Given the description of an element on the screen output the (x, y) to click on. 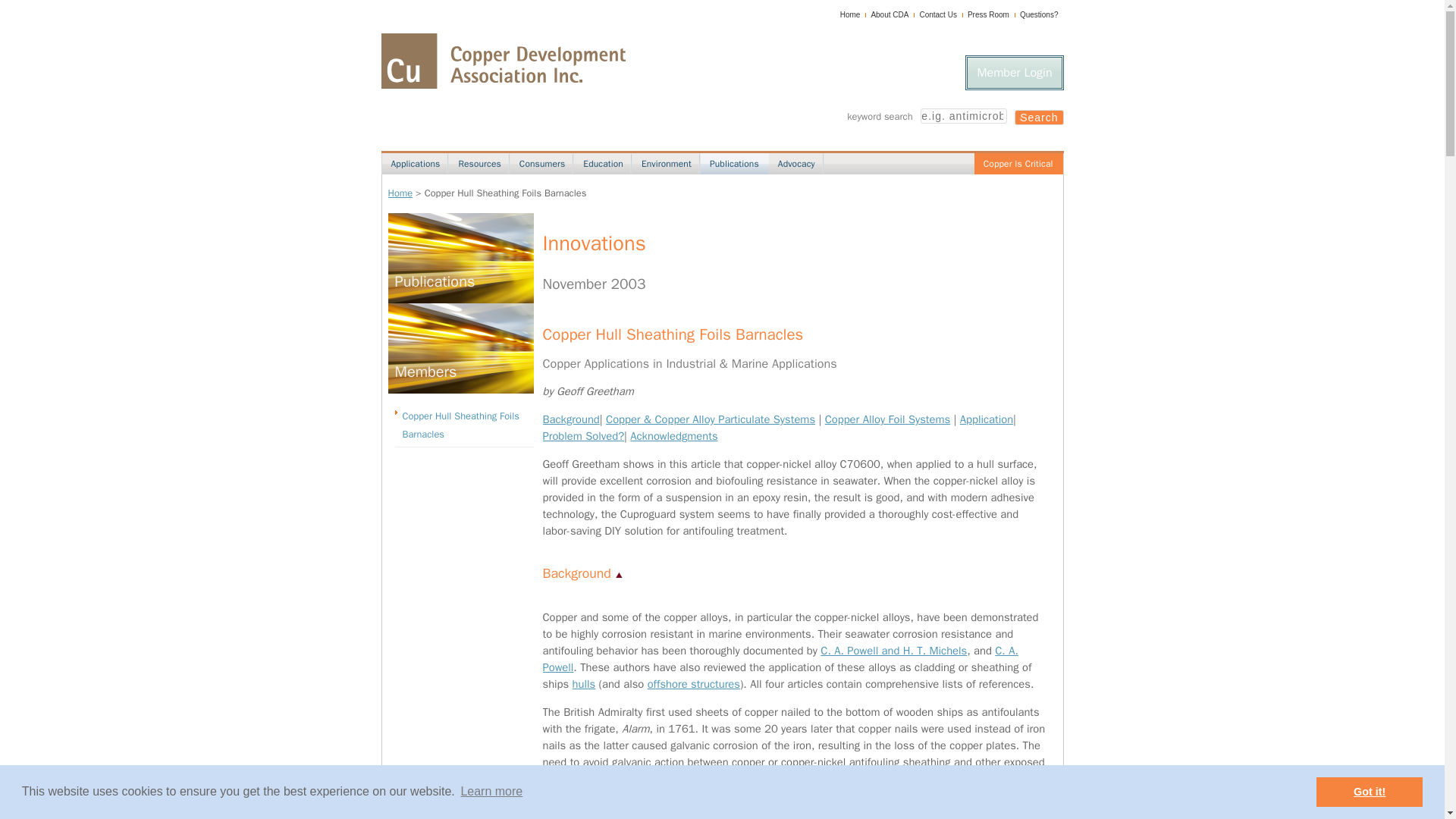
Learn more (491, 791)
Home (850, 14)
Copper.org homepage (502, 60)
Copper and Copper-related resources (478, 163)
Applications of Copper and Copper Alloys (414, 163)
Got it! (1369, 791)
Copper and the Environment (664, 163)
Press Room (988, 14)
Applications (414, 163)
Search (1038, 117)
Copper resources for consumers (542, 163)
Copper resources for education and teaching (601, 163)
About CDA (889, 14)
Member Login (1013, 72)
Questions? (1039, 14)
